Given the description of an element on the screen output the (x, y) to click on. 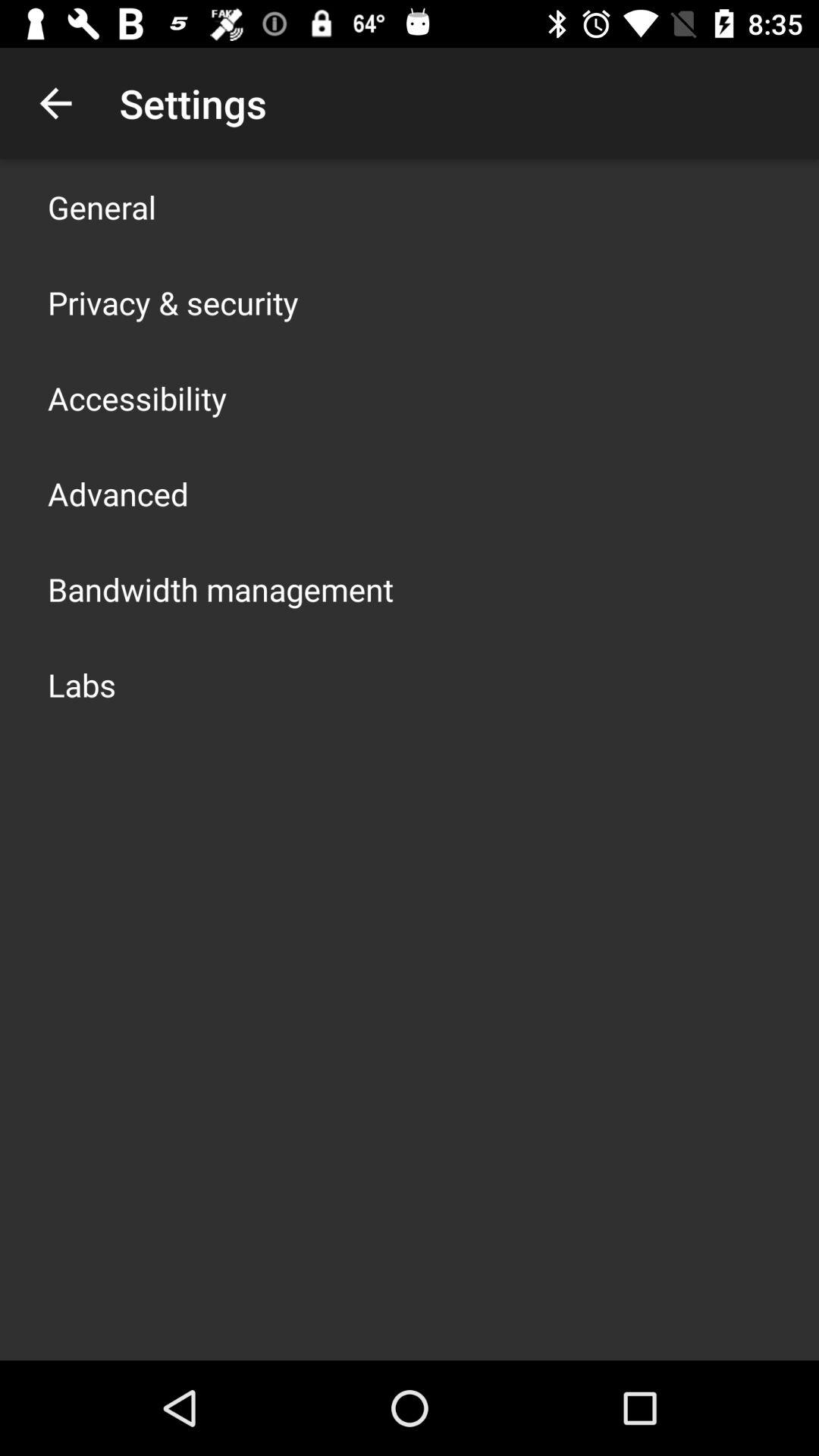
turn off item above the accessibility app (172, 302)
